Given the description of an element on the screen output the (x, y) to click on. 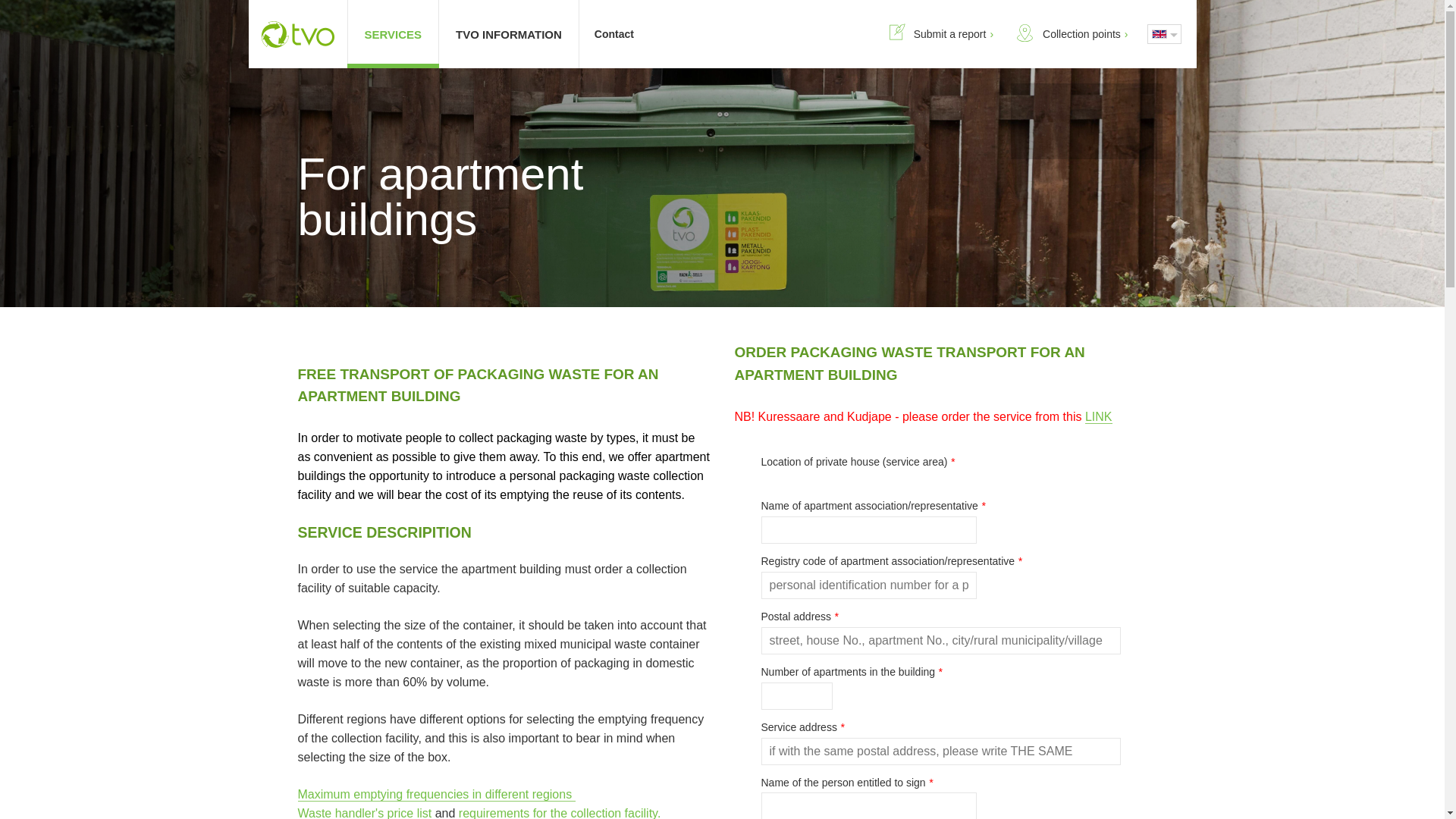
LINK (1098, 417)
Waste handler's price list (363, 812)
requirements for the collection facility. (559, 812)
Collection points (1068, 33)
Submit a report (937, 33)
Maximum emptying frequencies in different regions  (436, 794)
